Given the description of an element on the screen output the (x, y) to click on. 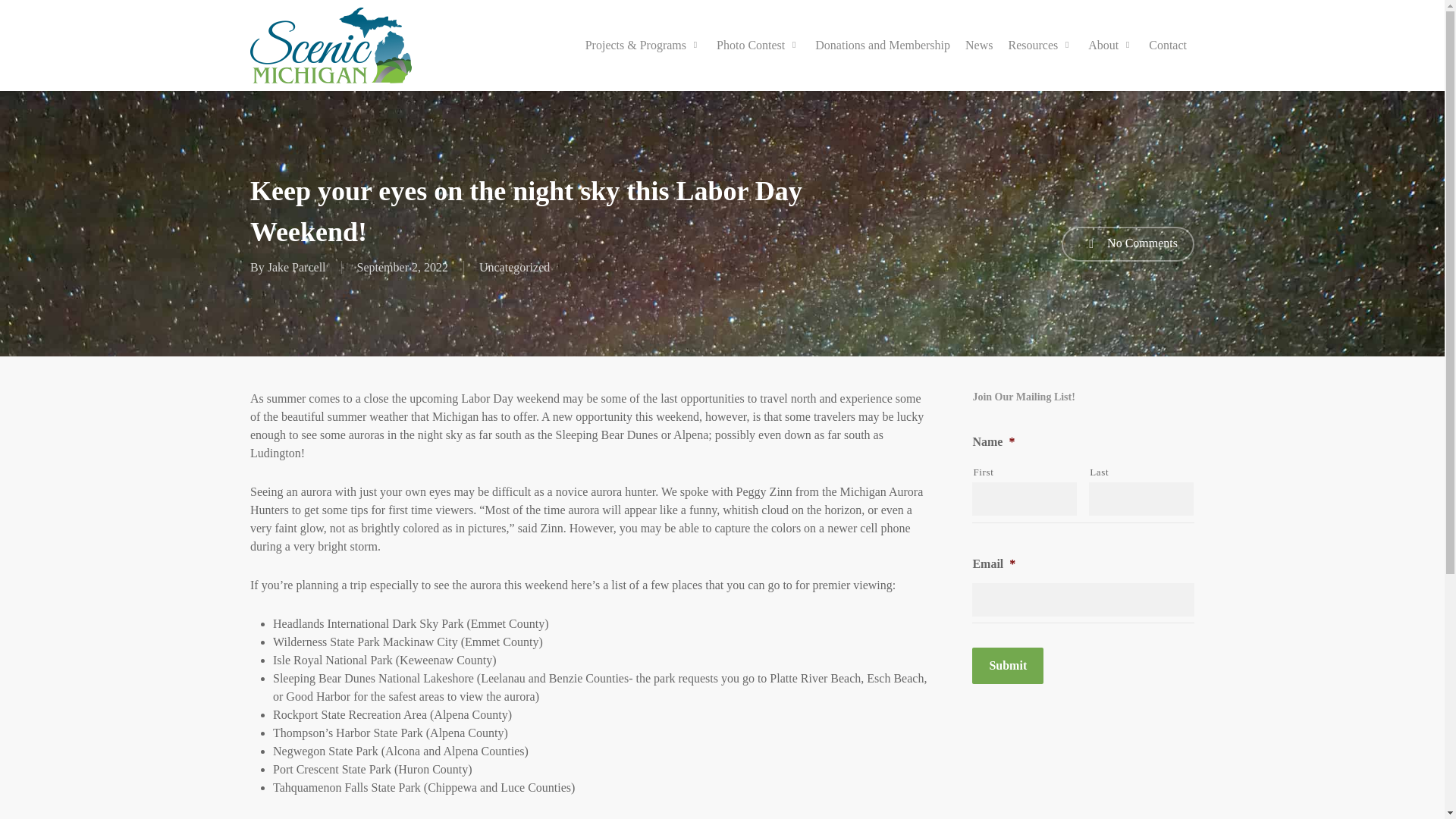
Uncategorized (514, 267)
Jake Parcell (296, 267)
Submit (1007, 665)
Submit (1007, 665)
Photo Contest (758, 45)
Donations and Membership (883, 45)
News (979, 45)
No Comments (1127, 243)
Resources (1040, 45)
About (1110, 45)
